Given the description of an element on the screen output the (x, y) to click on. 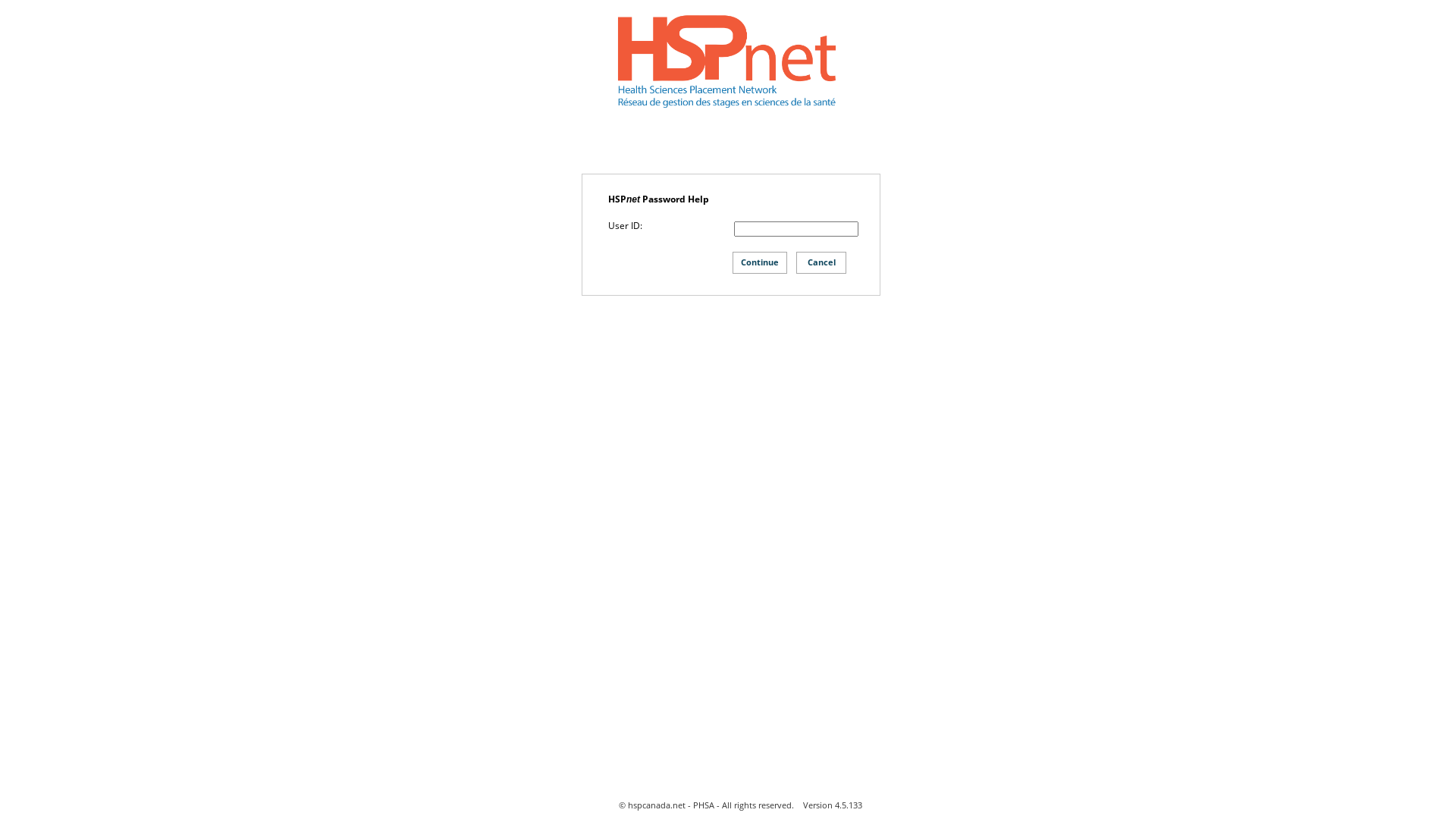
Continue Element type: text (759, 262)
Cancel Element type: text (821, 262)
